Given the description of an element on the screen output the (x, y) to click on. 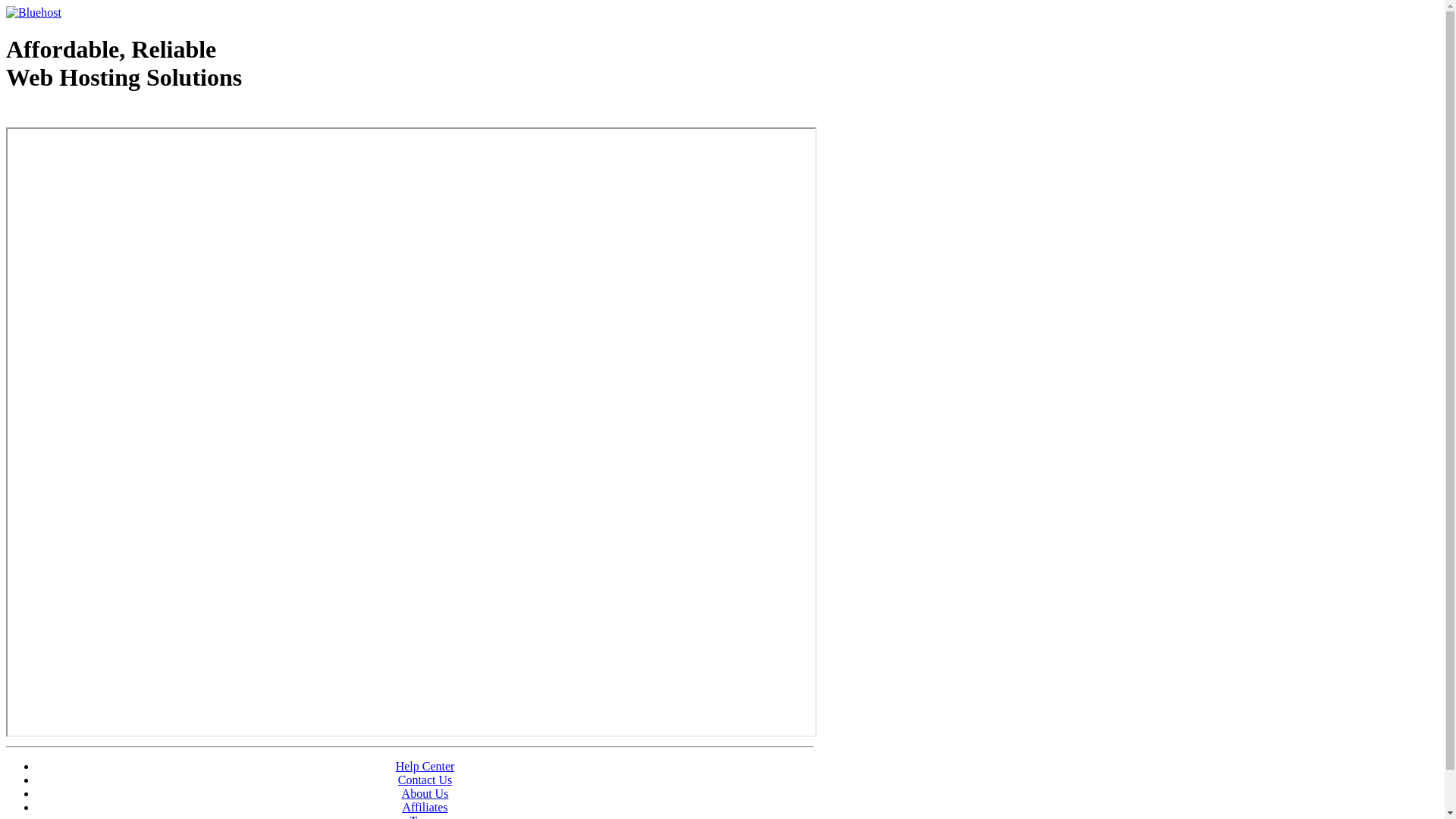
Affiliates Element type: text (424, 806)
Contact Us Element type: text (425, 779)
Web Hosting - courtesy of www.bluehost.com Element type: text (94, 115)
About Us Element type: text (424, 793)
Help Center Element type: text (425, 765)
